Given the description of an element on the screen output the (x, y) to click on. 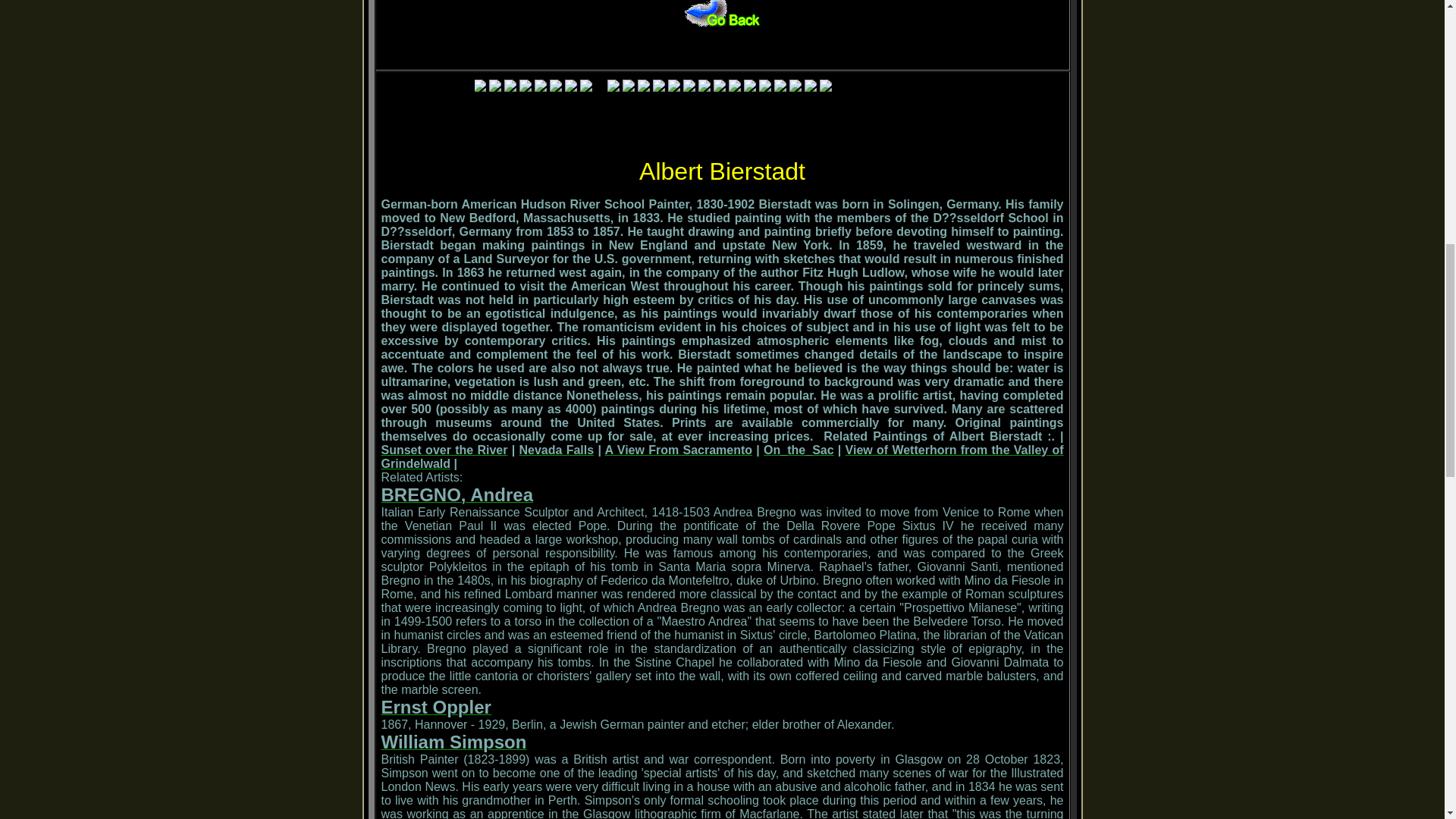
View of Wetterhorn from the Valley of Grindelwald (721, 456)
William Simpson (452, 744)
A View From Sacramento (678, 449)
Sunset over the River (443, 449)
Nevada Falls (556, 449)
Ernst Oppler (435, 708)
BREGNO, Andrea (456, 496)
